Given the description of an element on the screen output the (x, y) to click on. 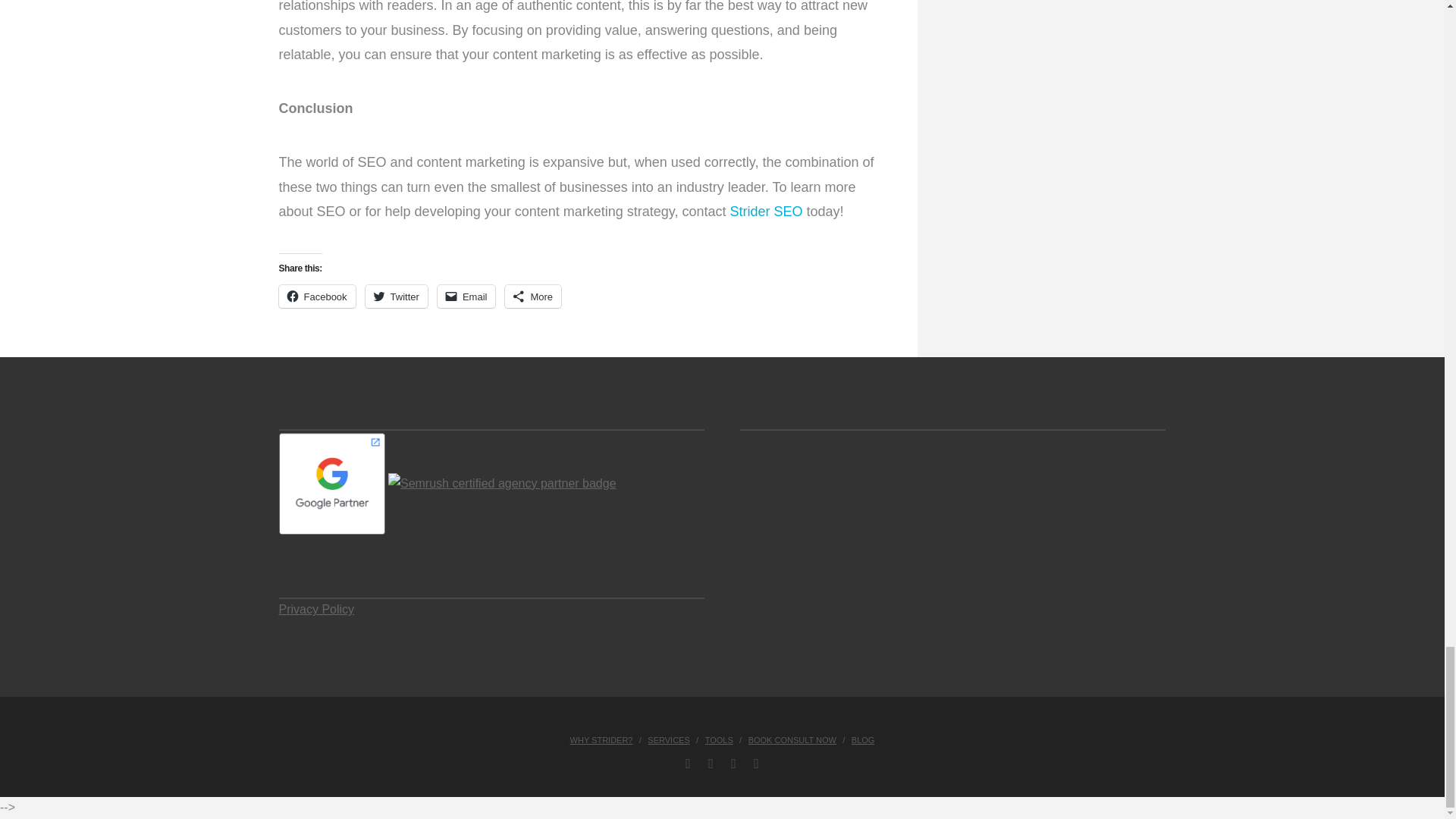
Privacy Policy (317, 608)
Click to share on Twitter (396, 296)
Click to email a link to a friend (467, 296)
Click to share on Facebook (317, 296)
